Given the description of an element on the screen output the (x, y) to click on. 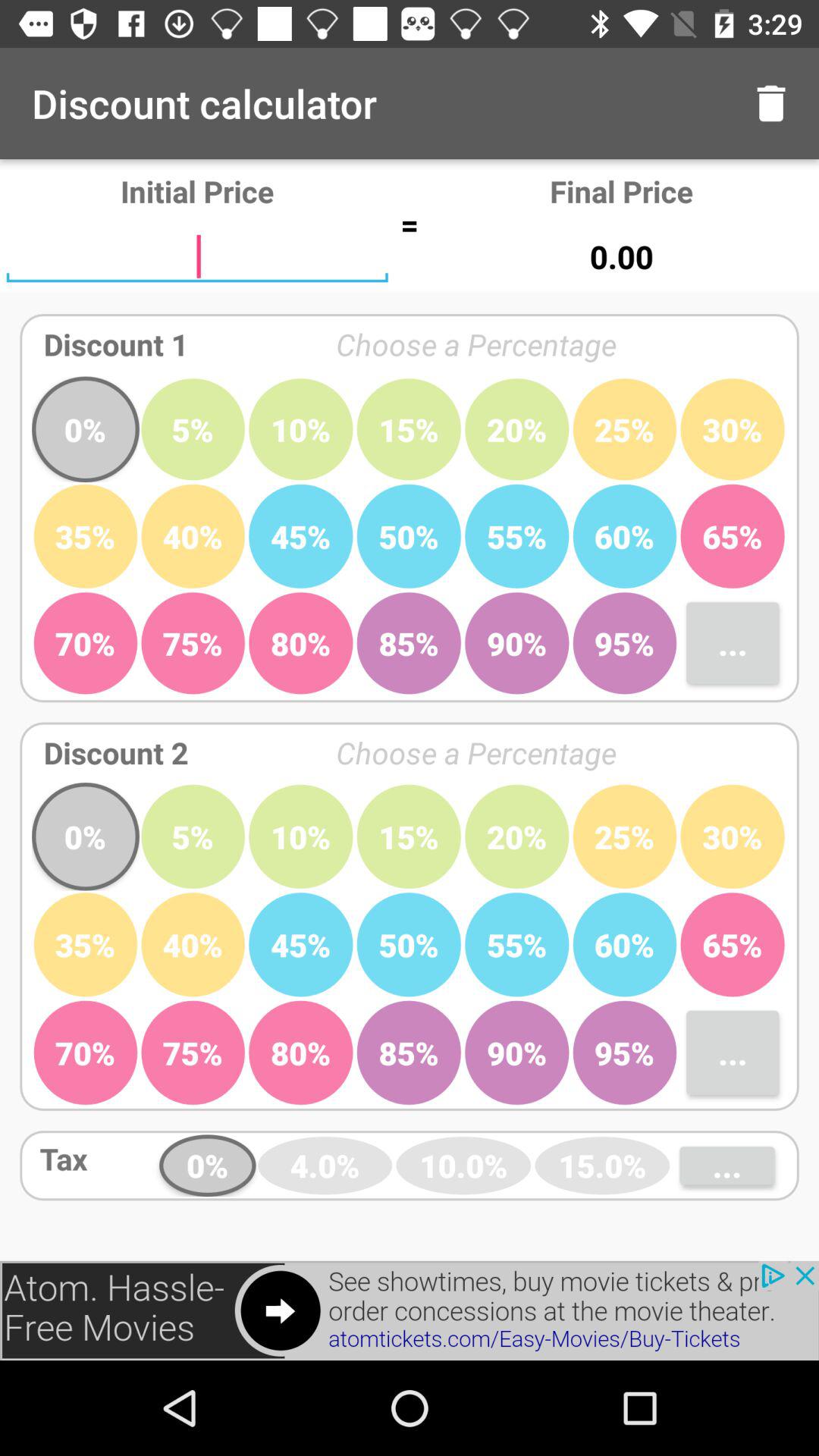
click on add (409, 1310)
